Given the description of an element on the screen output the (x, y) to click on. 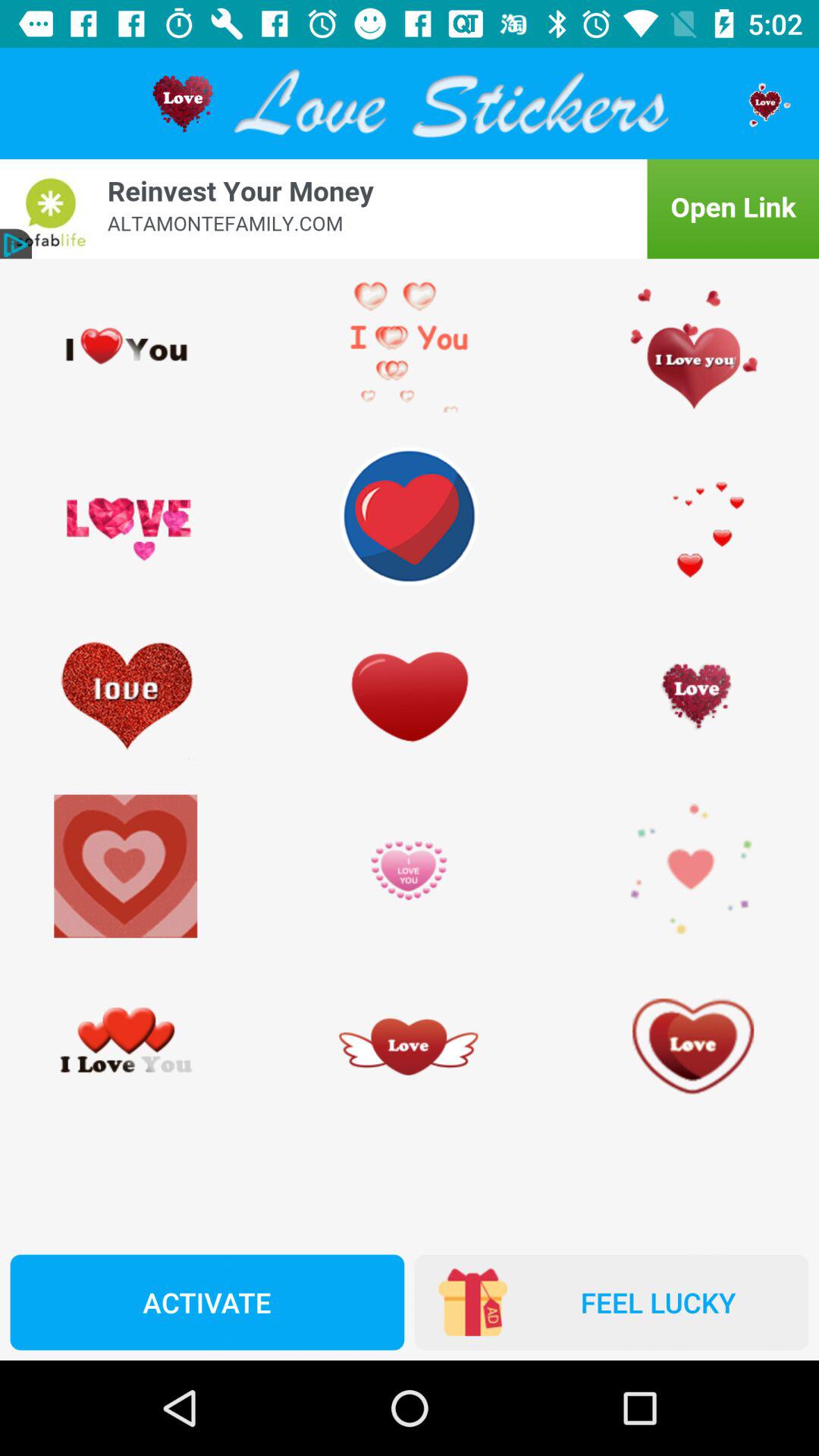
launch button to the right of activate item (611, 1302)
